Given the description of an element on the screen output the (x, y) to click on. 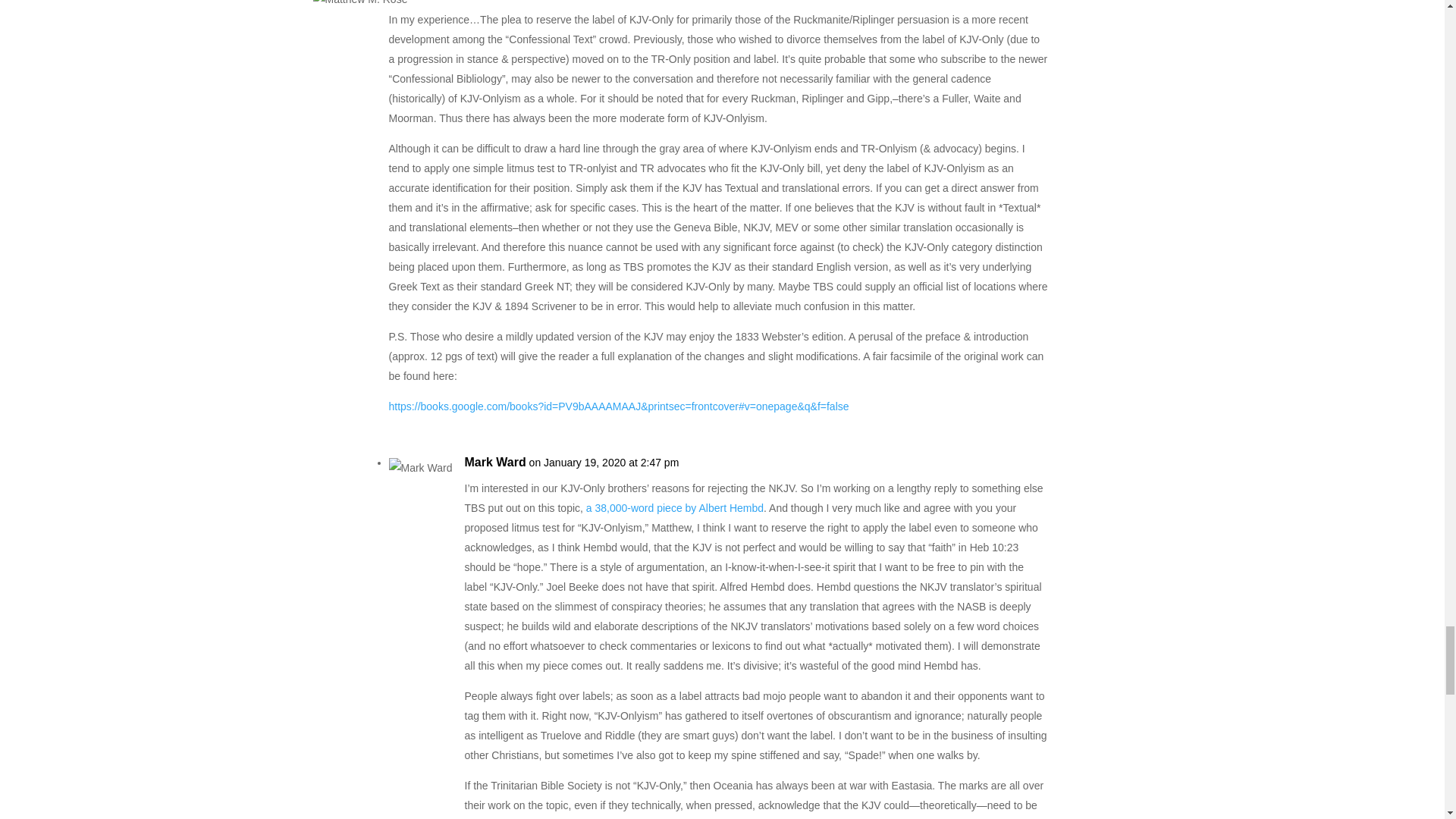
Mark Ward (494, 462)
